Given the description of an element on the screen output the (x, y) to click on. 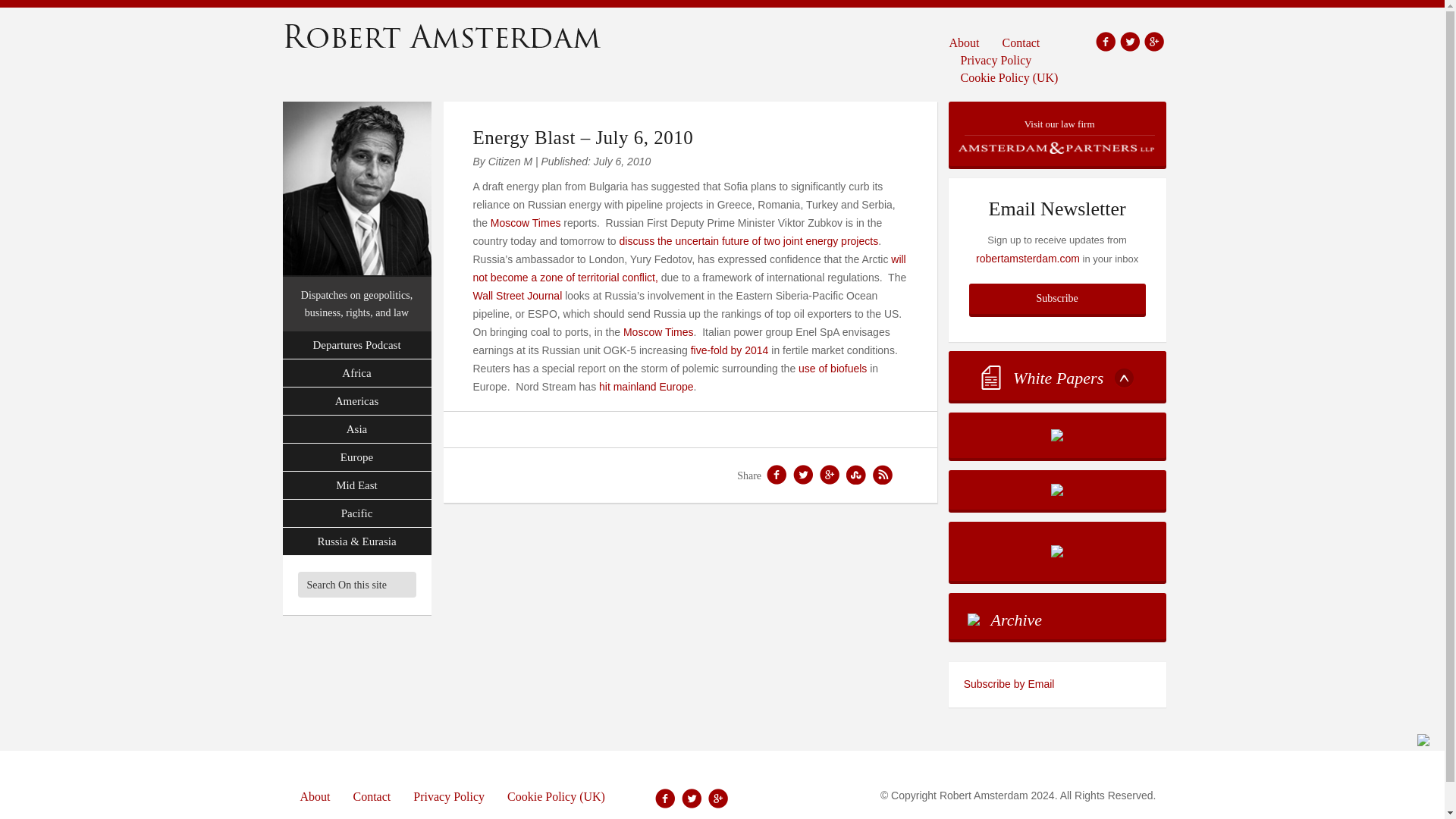
Americas (356, 401)
future of two joint energy projects (798, 241)
hit mainland Europe (646, 386)
Subscribe to the Robert Amsterdam feed by email (1057, 684)
five-fold by 2014 (729, 349)
Contact (1021, 42)
use of biofuels (831, 368)
discuss the (646, 241)
White Papers (1057, 375)
Moscow Times (658, 331)
Departures Podcast (356, 345)
Asia (356, 429)
will not become a zone of territorial conflict, (689, 268)
Privacy Policy (996, 59)
Africa (356, 373)
